Given the description of an element on the screen output the (x, y) to click on. 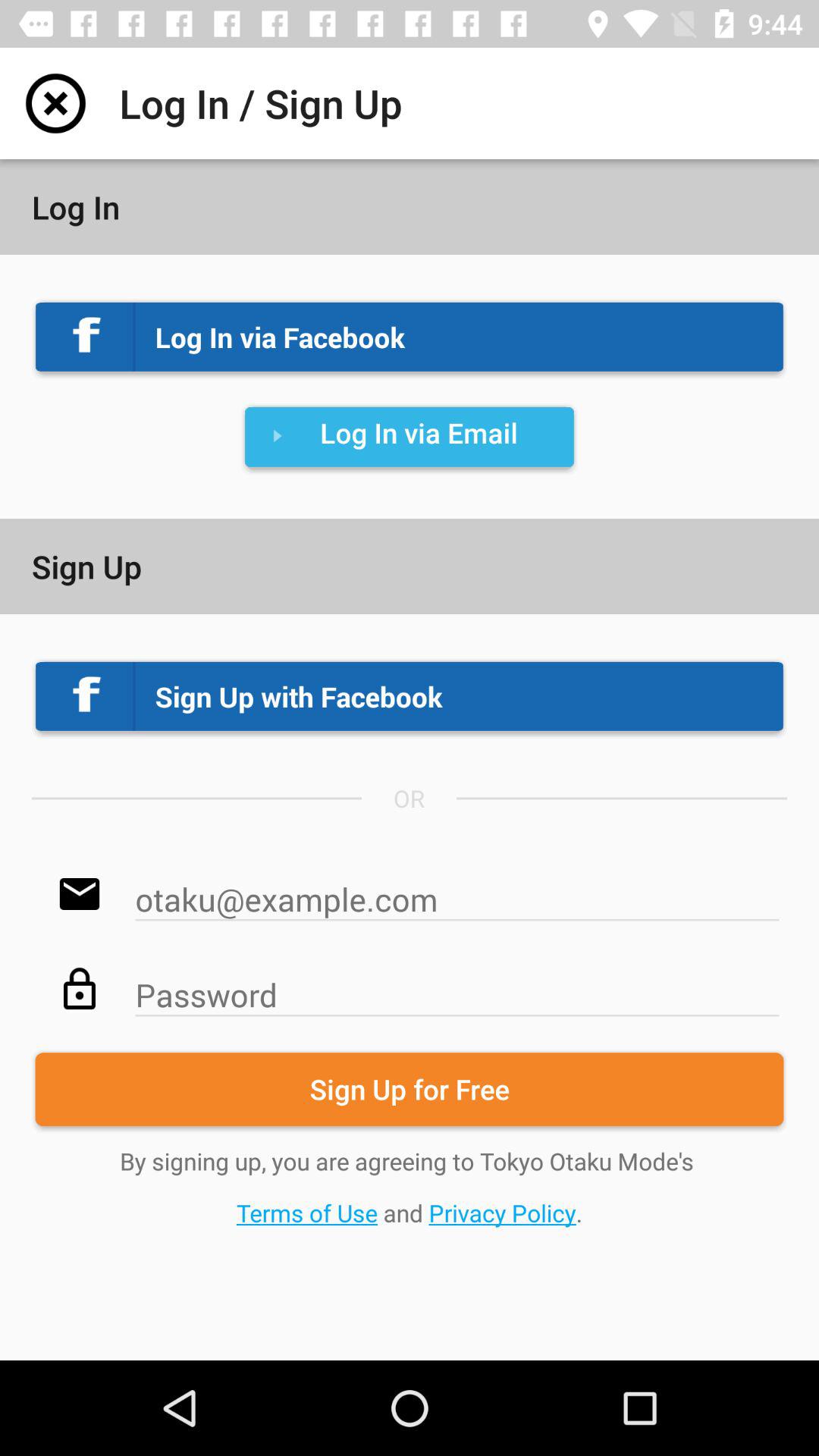
email option (457, 891)
